Given the description of an element on the screen output the (x, y) to click on. 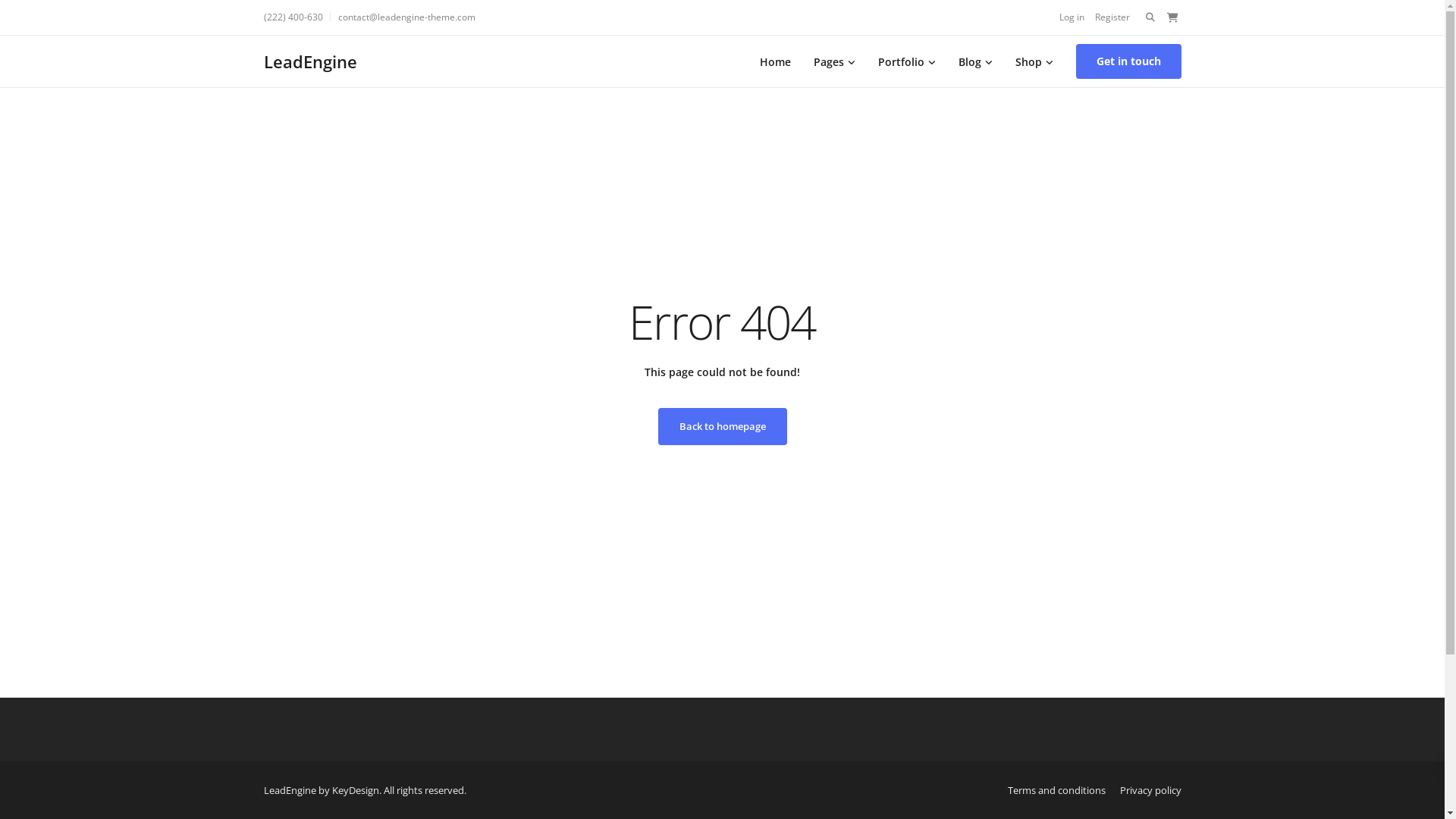
Services Element type: text (284, 590)
Terms and conditions Element type: text (1055, 790)
Gallery post Element type: text (528, 635)
News Element type: text (748, 658)
Log in Element type: text (1070, 16)
Back to homepage Element type: text (722, 426)
Privacy policy Element type: text (768, 635)
Home Element type: text (774, 61)
Contact us Element type: text (760, 681)
Our shop Element type: text (287, 612)
Pages Element type: text (834, 61)
About us Element type: text (756, 590)
(222) 400-630 Element type: text (296, 16)
Hello world! Element type: text (528, 590)
Privacy policy Element type: text (1149, 790)
Location Element type: text (284, 681)
Audio post Element type: text (525, 681)
Blog Element type: text (974, 61)
Video post Element type: text (525, 658)
LeadEngine Element type: text (310, 61)
contact@leadengine-theme.com Element type: text (406, 16)
Portfolio Element type: text (906, 61)
Job opportunities Element type: text (307, 635)
Terms and conditions Element type: text (789, 612)
Pricing options Element type: text (301, 658)
Standard post Element type: text (534, 612)
cart Element type: hover (1172, 16)
Get in touch Element type: text (1127, 60)
Register Element type: text (1112, 16)
Shop Element type: text (1034, 61)
